Given the description of an element on the screen output the (x, y) to click on. 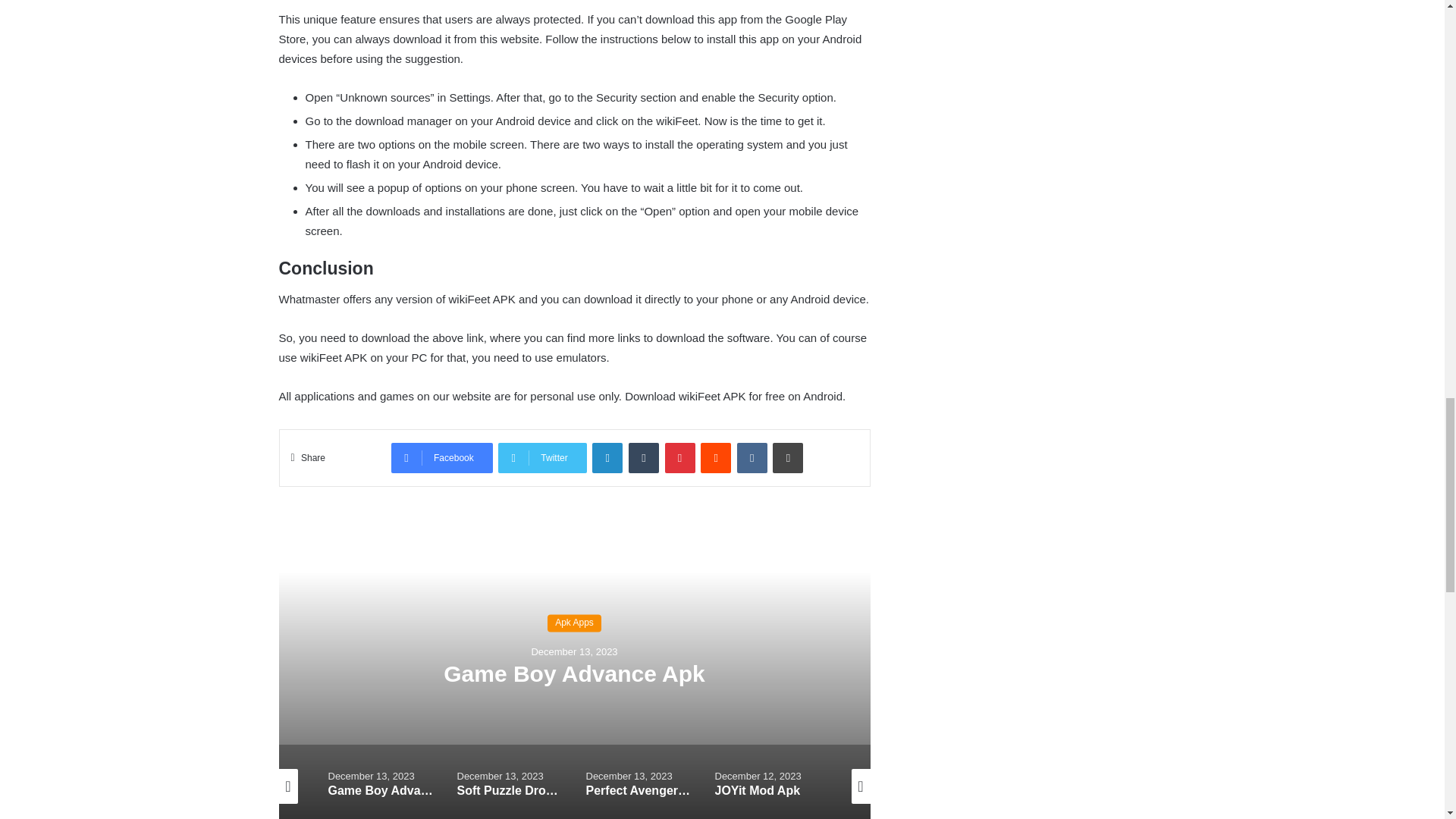
Pinterest (680, 458)
VKontakte (751, 458)
VKontakte (751, 458)
Tumblr (643, 458)
LinkedIn (607, 458)
Tumblr (643, 458)
Print (788, 458)
Game Boy Advance Apk (574, 673)
Apk Apps (574, 623)
Facebook (442, 458)
